Given the description of an element on the screen output the (x, y) to click on. 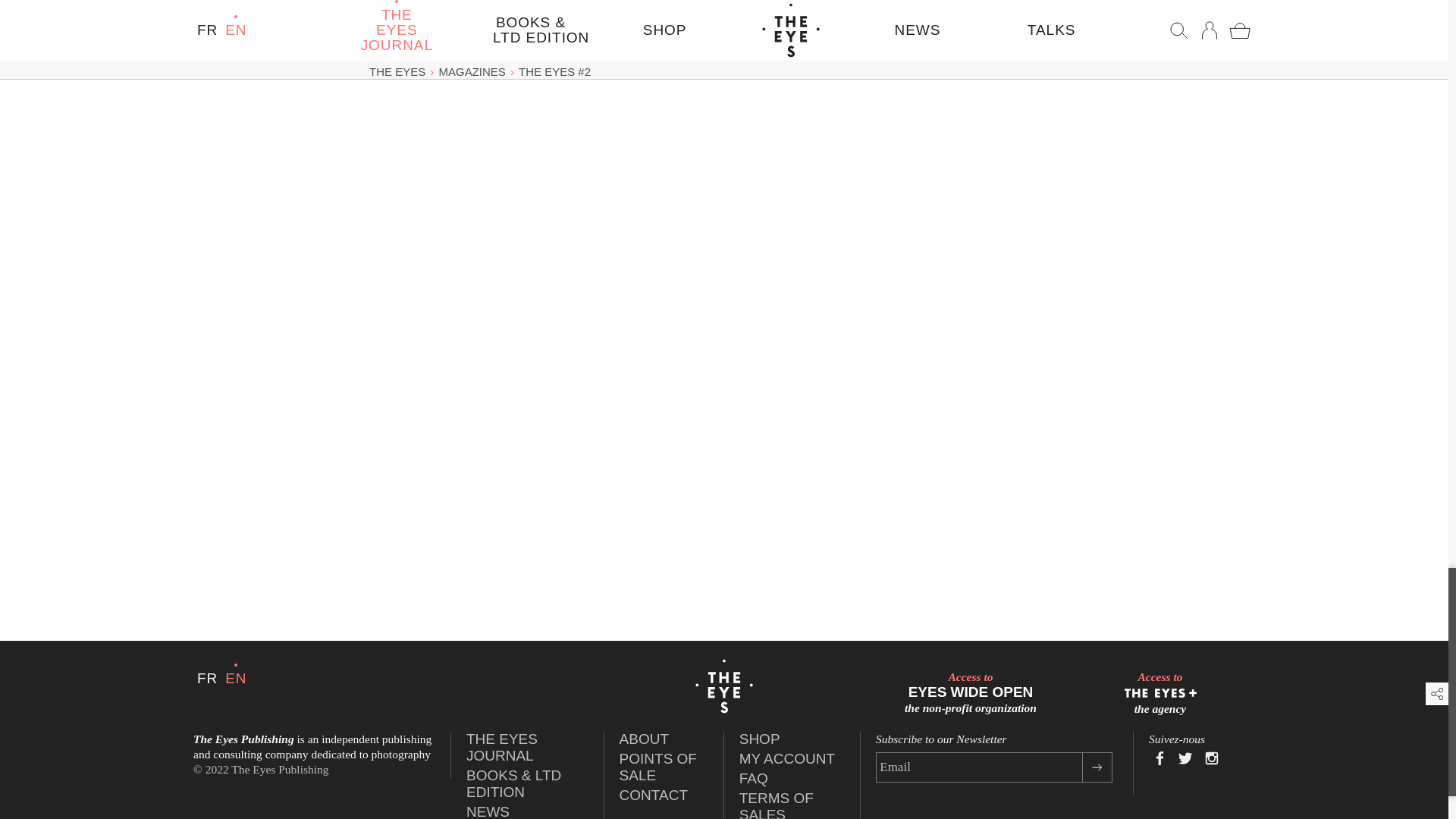
OK (1096, 767)
CONTACT (970, 692)
FR (653, 795)
ABOUT (206, 678)
POINTS OF SALE (644, 738)
THE EYES JOURNAL (658, 766)
EN (501, 747)
